Given the description of an element on the screen output the (x, y) to click on. 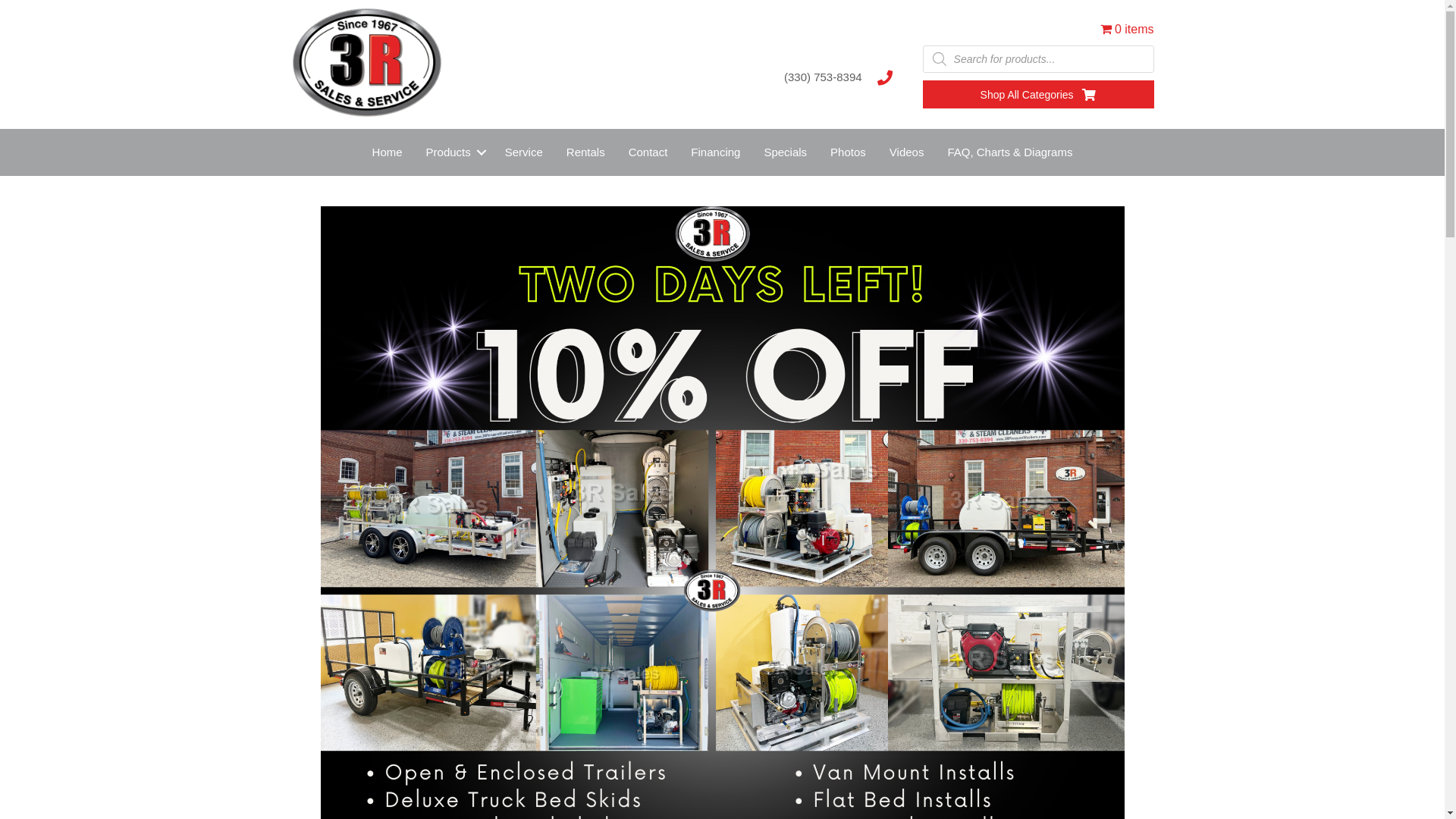
Specials Element type: text (785, 152)
Service Element type: text (523, 152)
FAQ, Charts & Diagrams Element type: text (1009, 152)
Home Element type: text (387, 152)
Photos Element type: text (848, 152)
Videos Element type: text (906, 152)
0 items Element type: text (1127, 28)
Products Element type: text (453, 152)
Contact Element type: text (648, 152)
Financing Element type: text (715, 152)
Shop All Categories Element type: text (1038, 94)
Rentals Element type: text (585, 152)
